Given the description of an element on the screen output the (x, y) to click on. 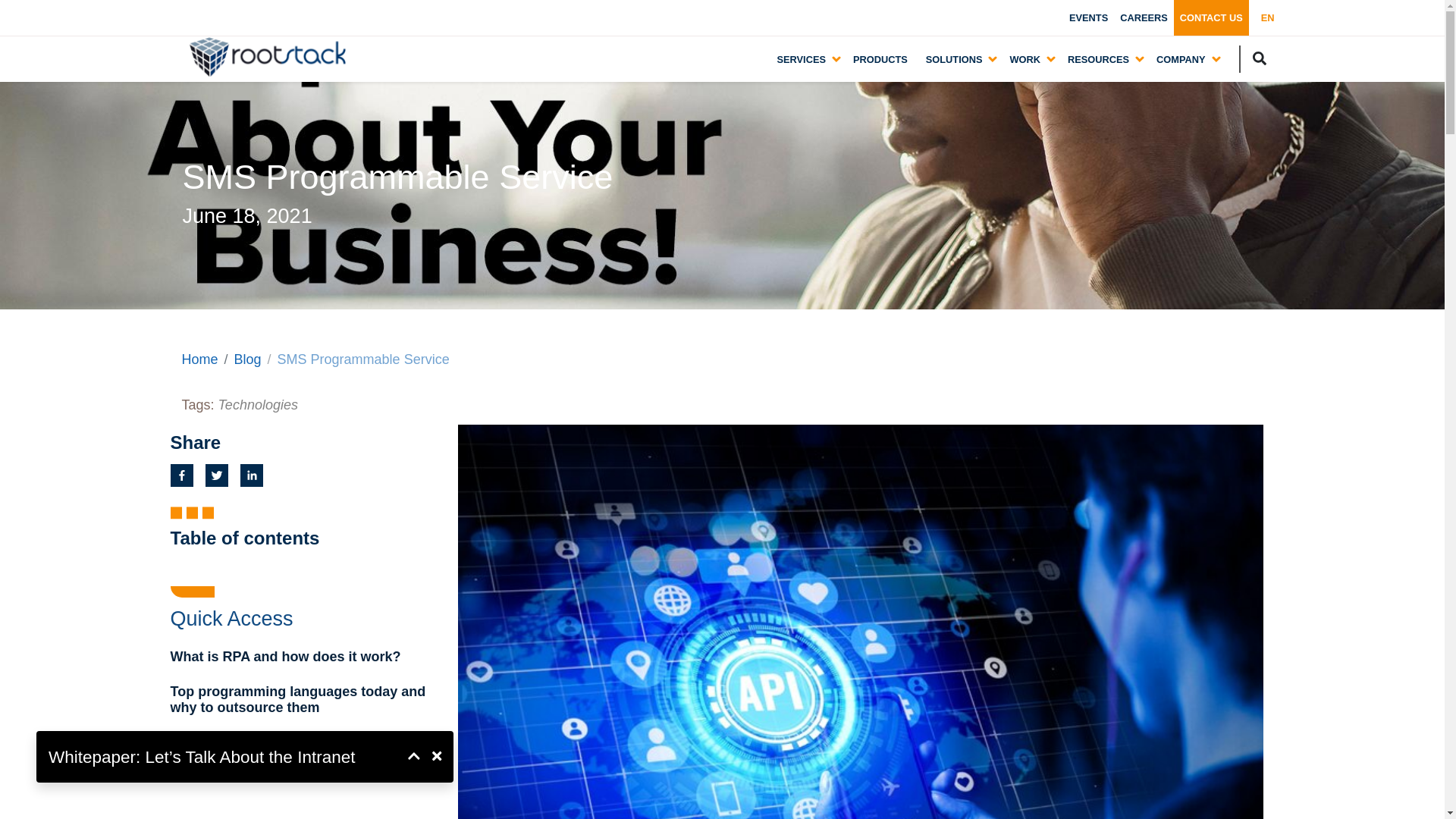
The 5 most famous web applications developed with Node.js (307, 750)
logo (266, 57)
Home (200, 359)
SOLUTIONS (954, 58)
SERVICES (800, 58)
Top programming languages today and why to outsource them (307, 699)
EN (1267, 18)
CONTACT US (1211, 18)
WORK (1024, 58)
CAREERS (1143, 18)
COMPANY (1180, 58)
Blog (248, 359)
What is RPA and how does it work? (307, 657)
PRODUCTS (880, 58)
SMS Programmable Service (363, 359)
